Given the description of an element on the screen output the (x, y) to click on. 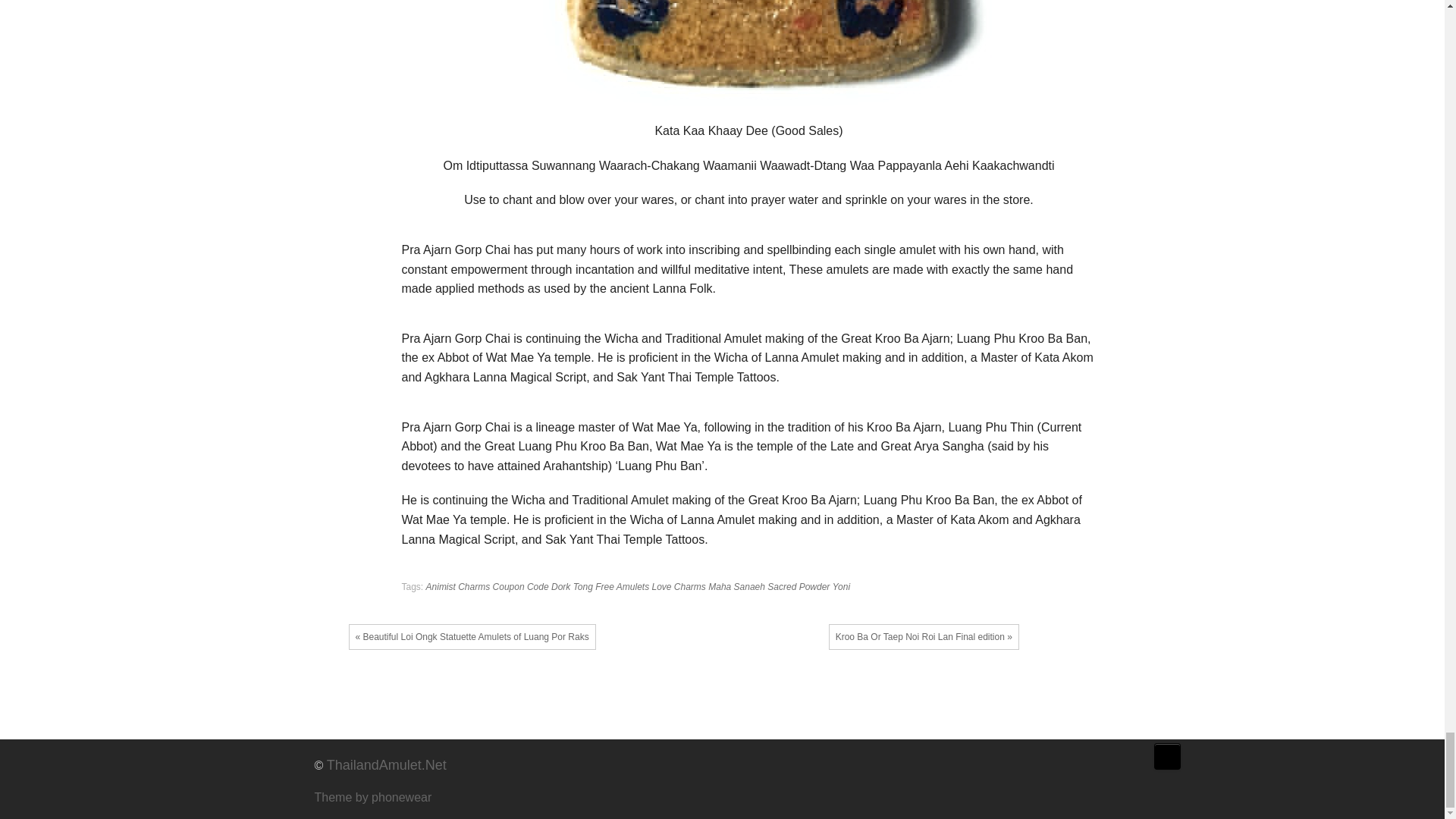
Coupon Code (520, 586)
Yoni (841, 586)
Dork Tong (571, 586)
Maha Sanaeh (736, 586)
 Youtube (1080, 762)
Free Amulets (622, 586)
ThailandAmulet.Net (386, 765)
 Vimeo (1103, 762)
Love Charms (679, 586)
Animist Charms (458, 586)
